Given the description of an element on the screen output the (x, y) to click on. 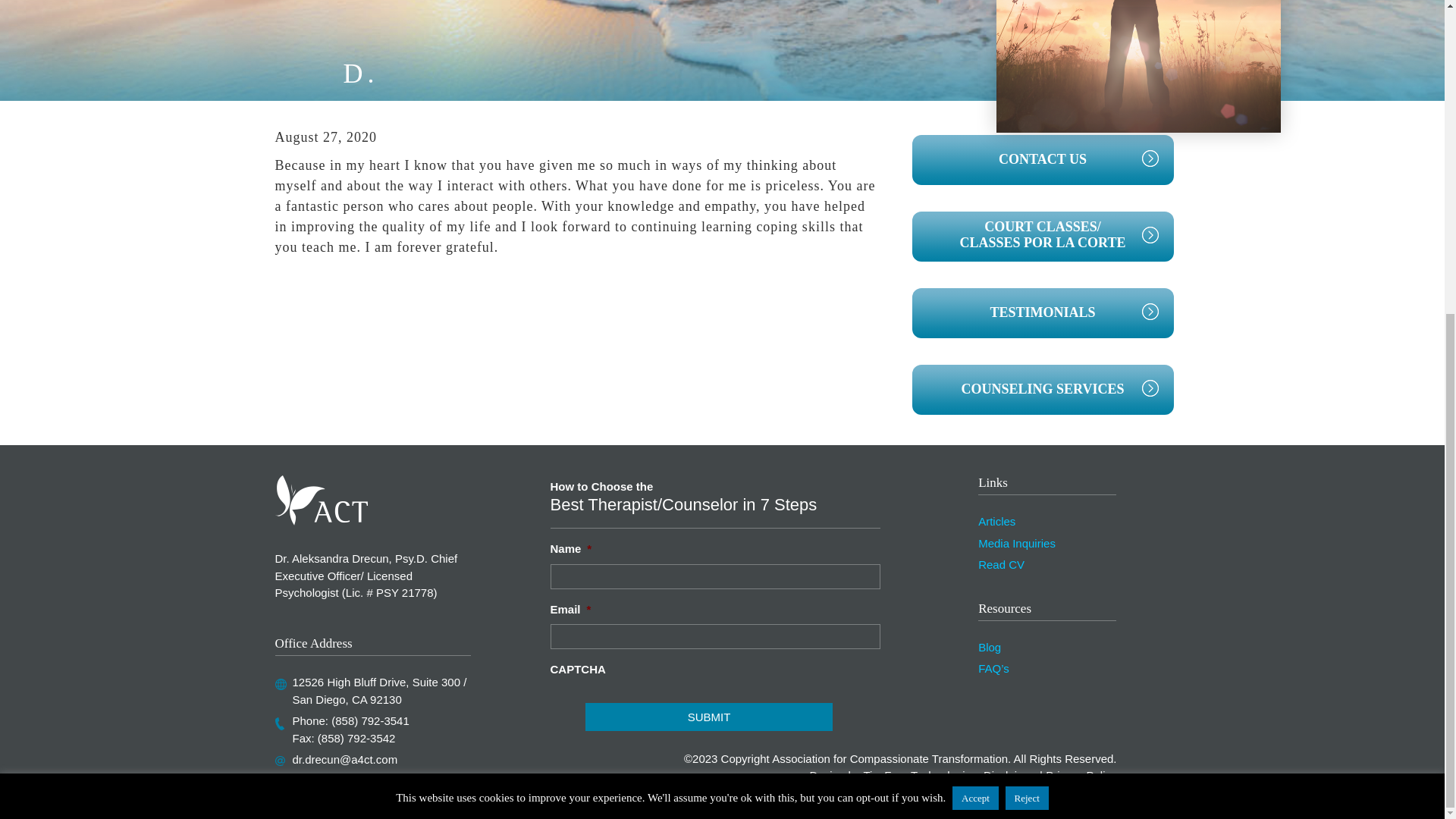
Submit (708, 716)
TESTIMONIALS (1042, 313)
Submit (708, 716)
COUNSELING SERVICES (1042, 389)
Blog (989, 646)
Media Inquiries (1016, 543)
Articles (996, 521)
Read CV (1001, 563)
CONTACT US (1042, 160)
